Given the description of an element on the screen output the (x, y) to click on. 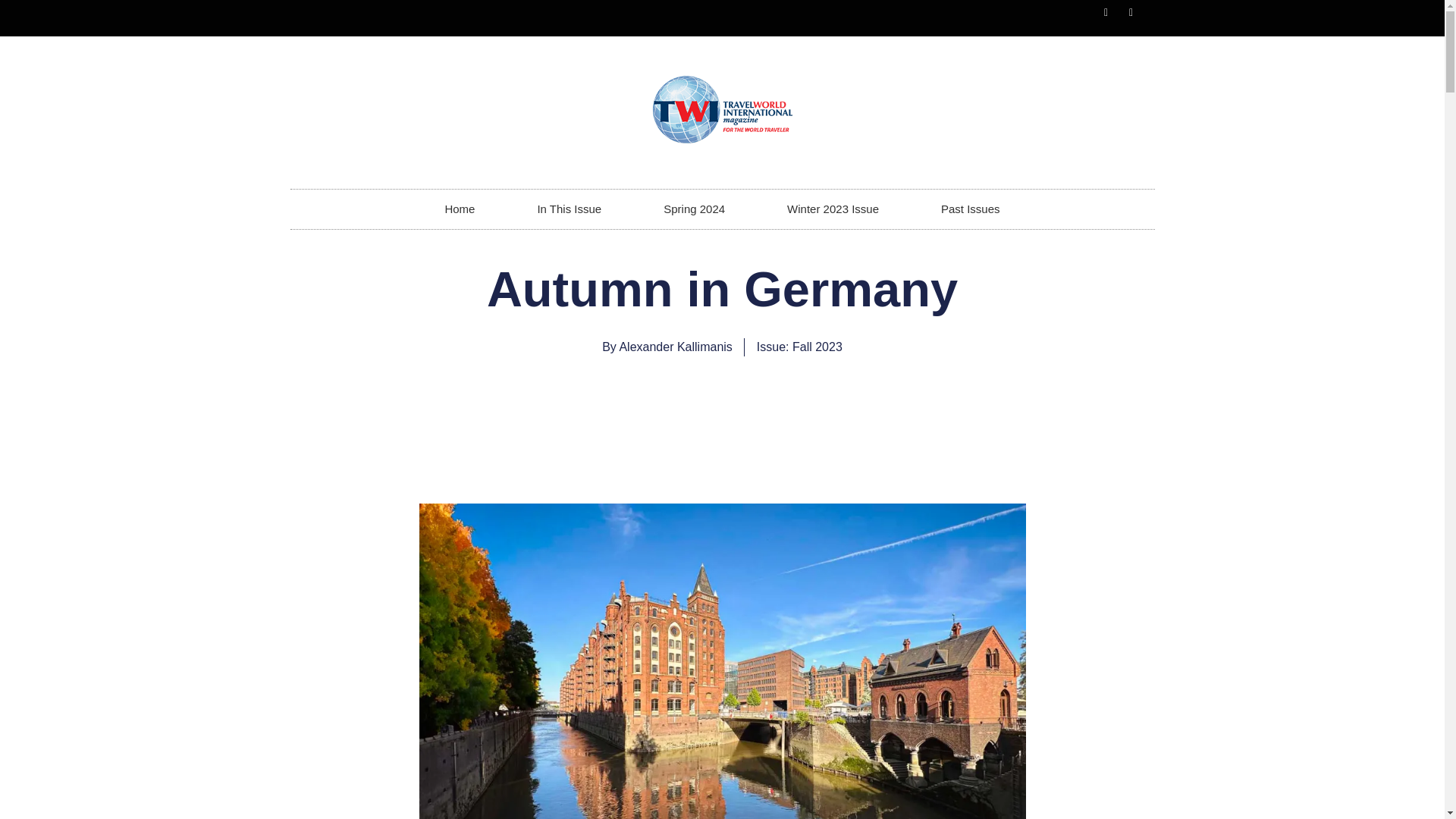
Home (459, 209)
By Alexander Kallimanis (667, 347)
Past Issues (970, 209)
In This Issue (568, 209)
Winter 2023 Issue (832, 209)
Spring 2024 (693, 209)
Fall 2023 (817, 346)
